Given the description of an element on the screen output the (x, y) to click on. 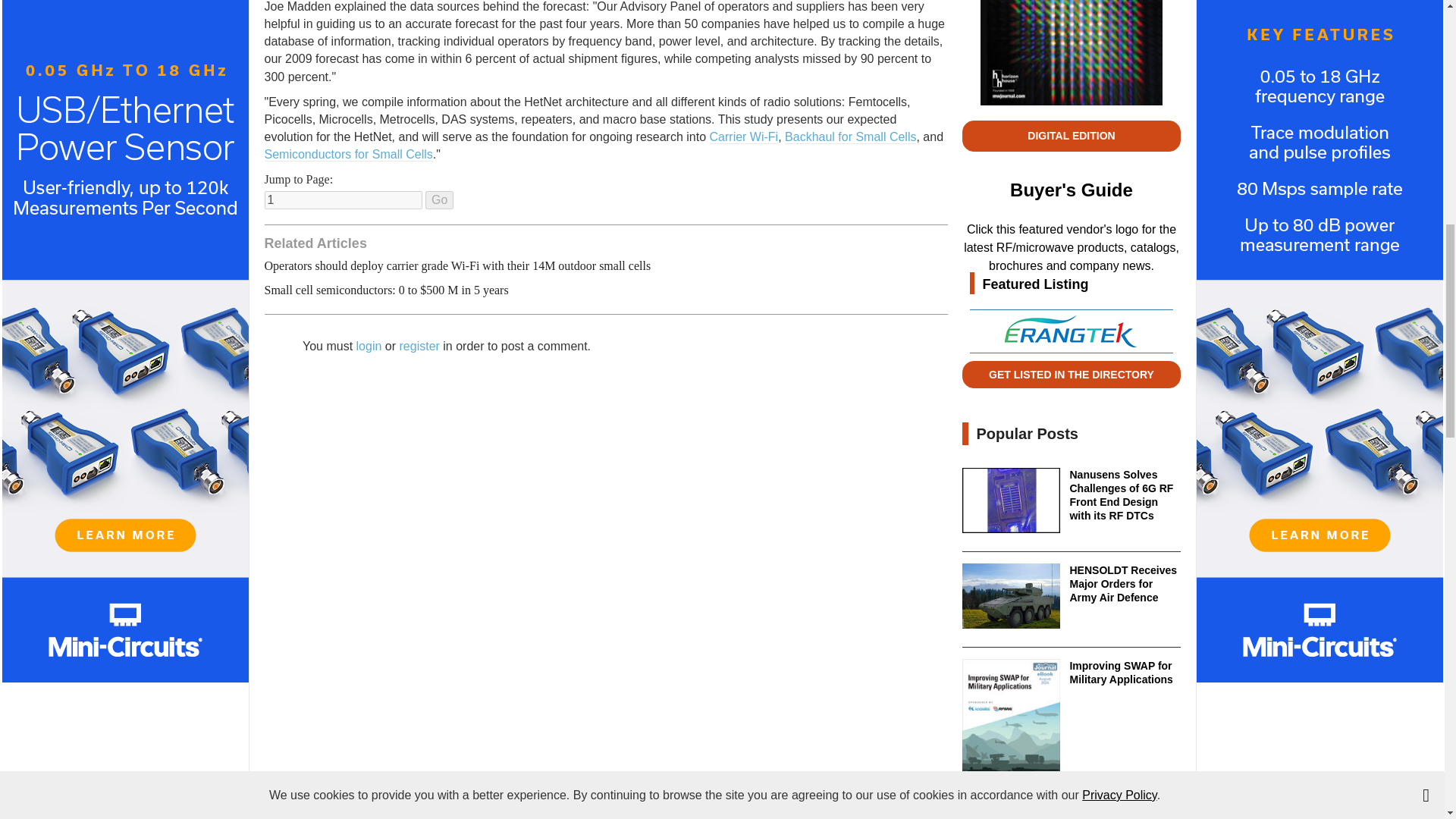
1 (342, 199)
Hensoldt-7-31-24.jpg (1010, 595)
Go (438, 199)
Nanusens-7-18-24.jpg (1010, 500)
